Given the description of an element on the screen output the (x, y) to click on. 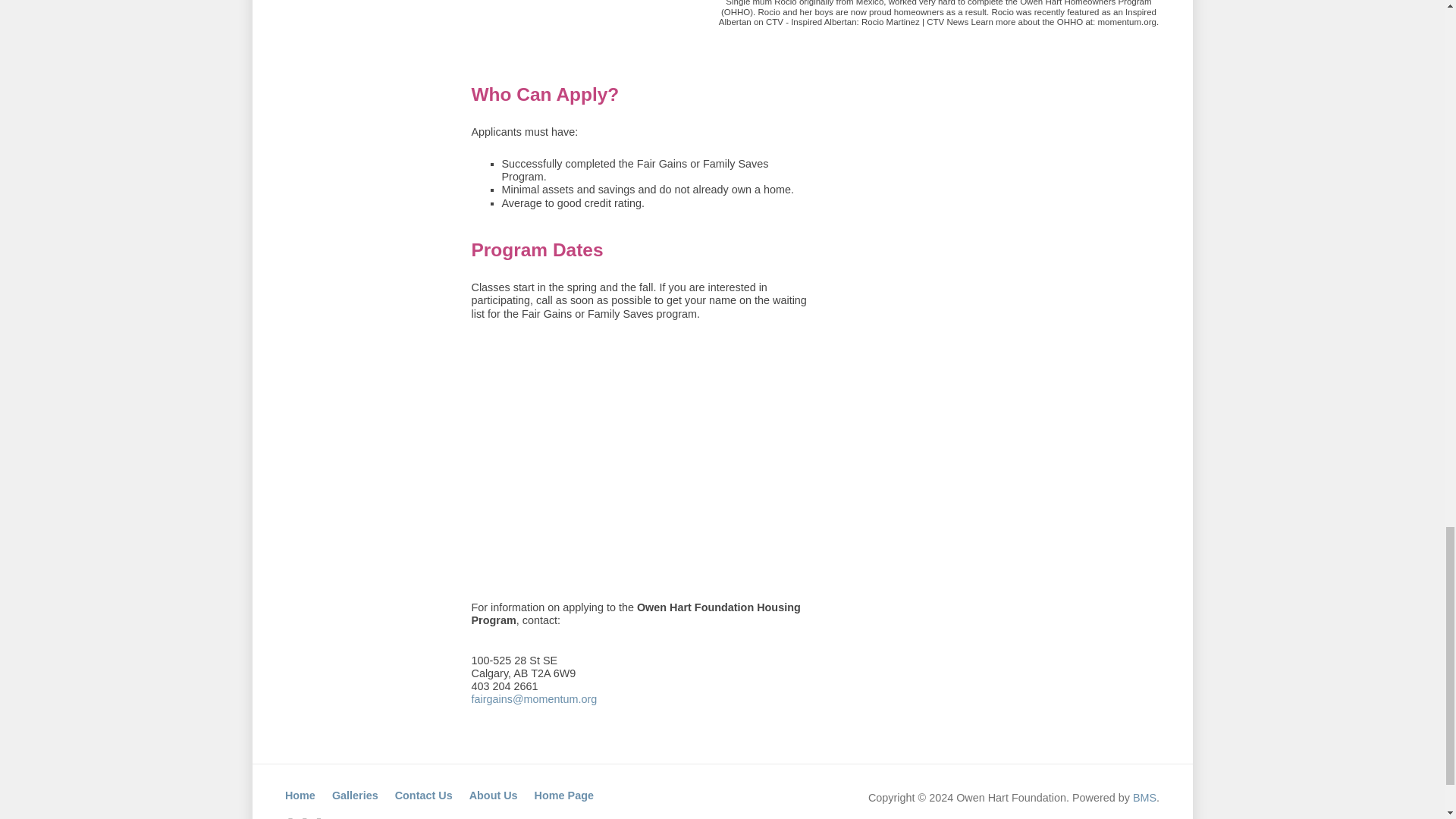
logo (584, 460)
